Given the description of an element on the screen output the (x, y) to click on. 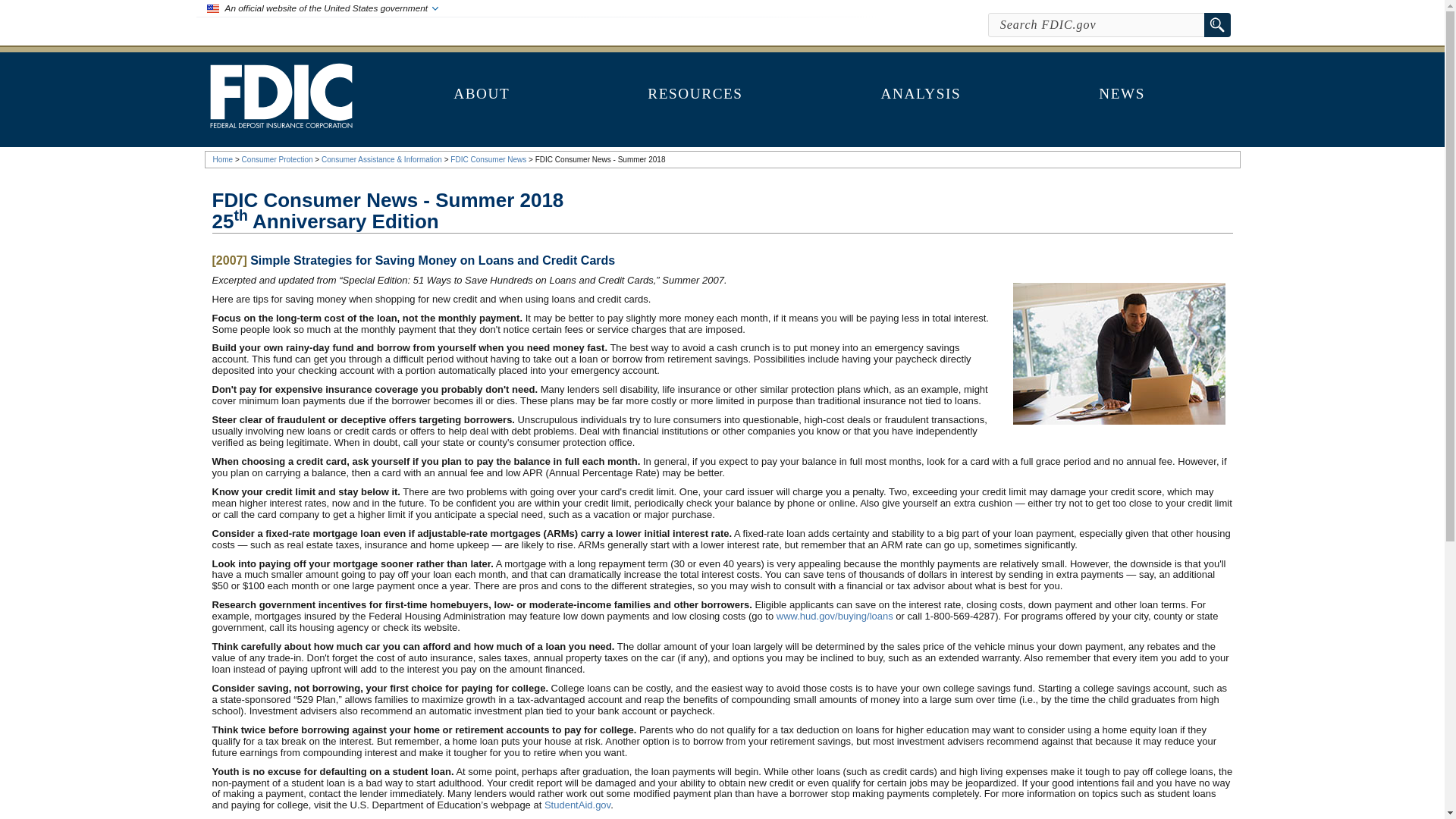
NEWS (1121, 100)
Home (222, 159)
StudentAid.gov (577, 804)
ANALYSIS (920, 100)
FDIC Consumer News (487, 159)
Search FDIC.gov (1096, 24)
RESOURCES (694, 100)
FDIC.gov home page (280, 124)
Consumer Protection (277, 159)
